Given the description of an element on the screen output the (x, y) to click on. 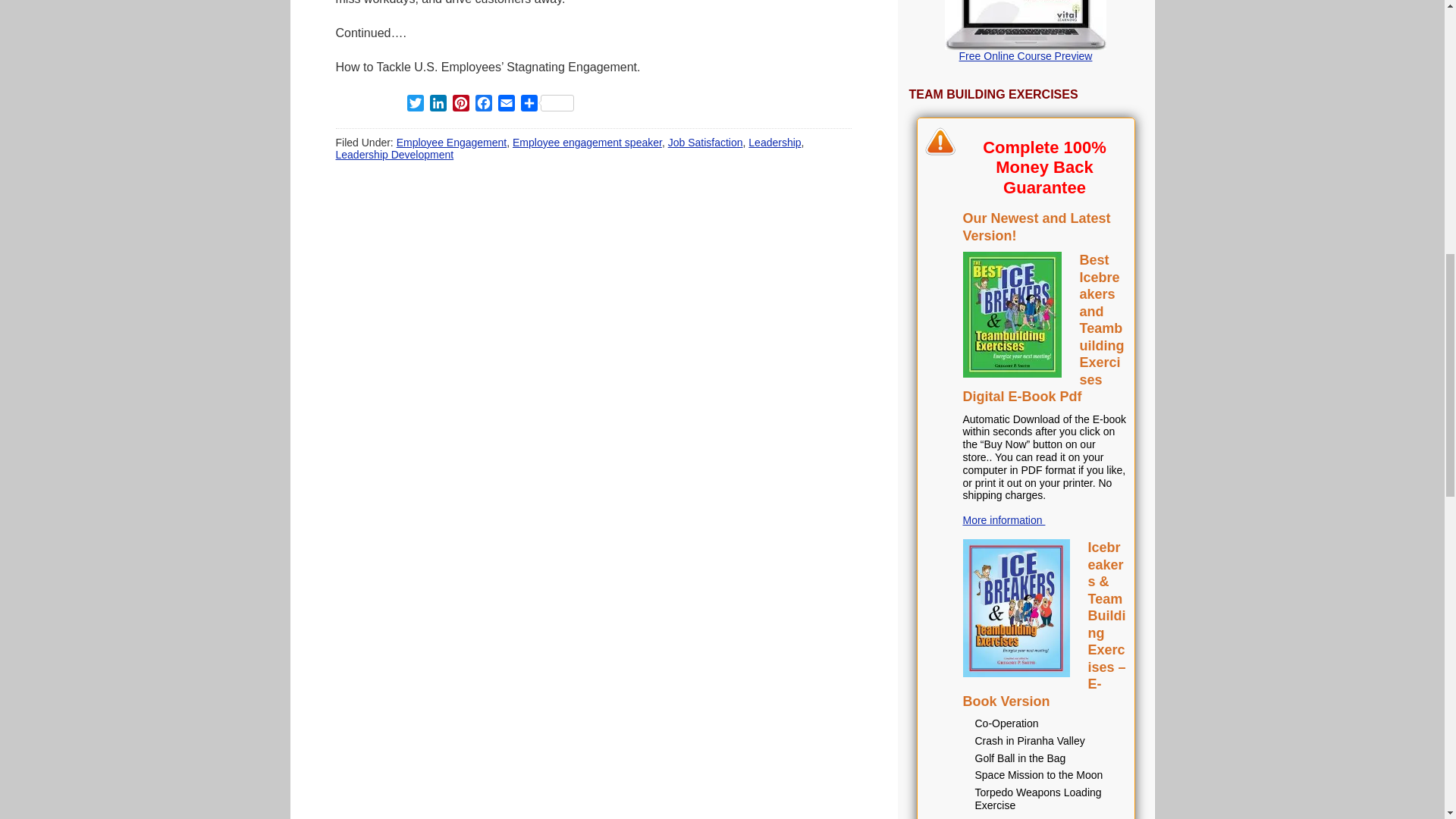
Email (505, 105)
Facebook (483, 105)
Twitter (414, 105)
Pinterest (459, 105)
LinkedIn (437, 105)
